Given the description of an element on the screen output the (x, y) to click on. 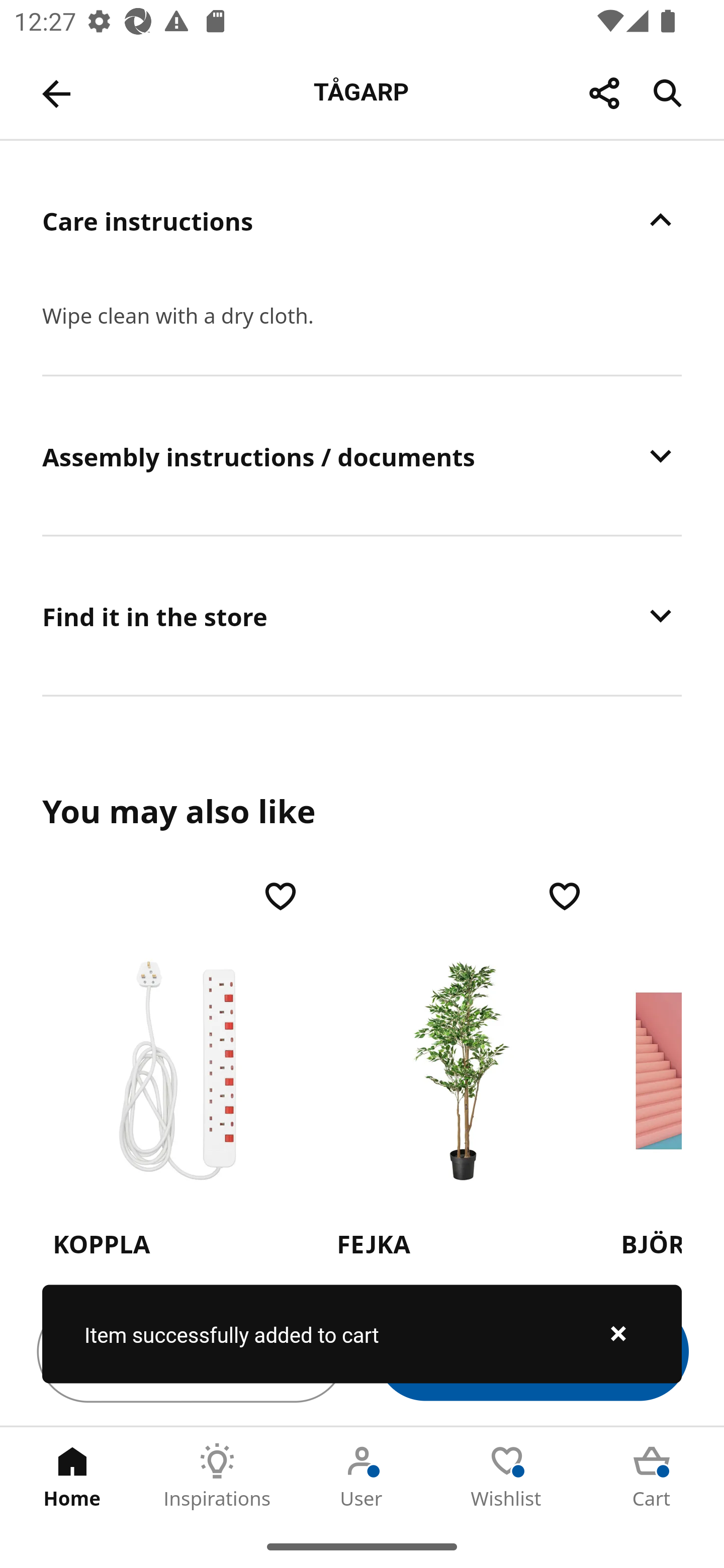
Care instructions (361, 219)
Assembly instructions / documents (361, 455)
Find it in the store (361, 615)
Item successfully added to cart (361, 1333)
Home
Tab 1 of 5 (72, 1476)
Inspirations
Tab 2 of 5 (216, 1476)
User
Tab 3 of 5 (361, 1476)
Wishlist
Tab 4 of 5 (506, 1476)
Cart
Tab 5 of 5 (651, 1476)
